Given the description of an element on the screen output the (x, y) to click on. 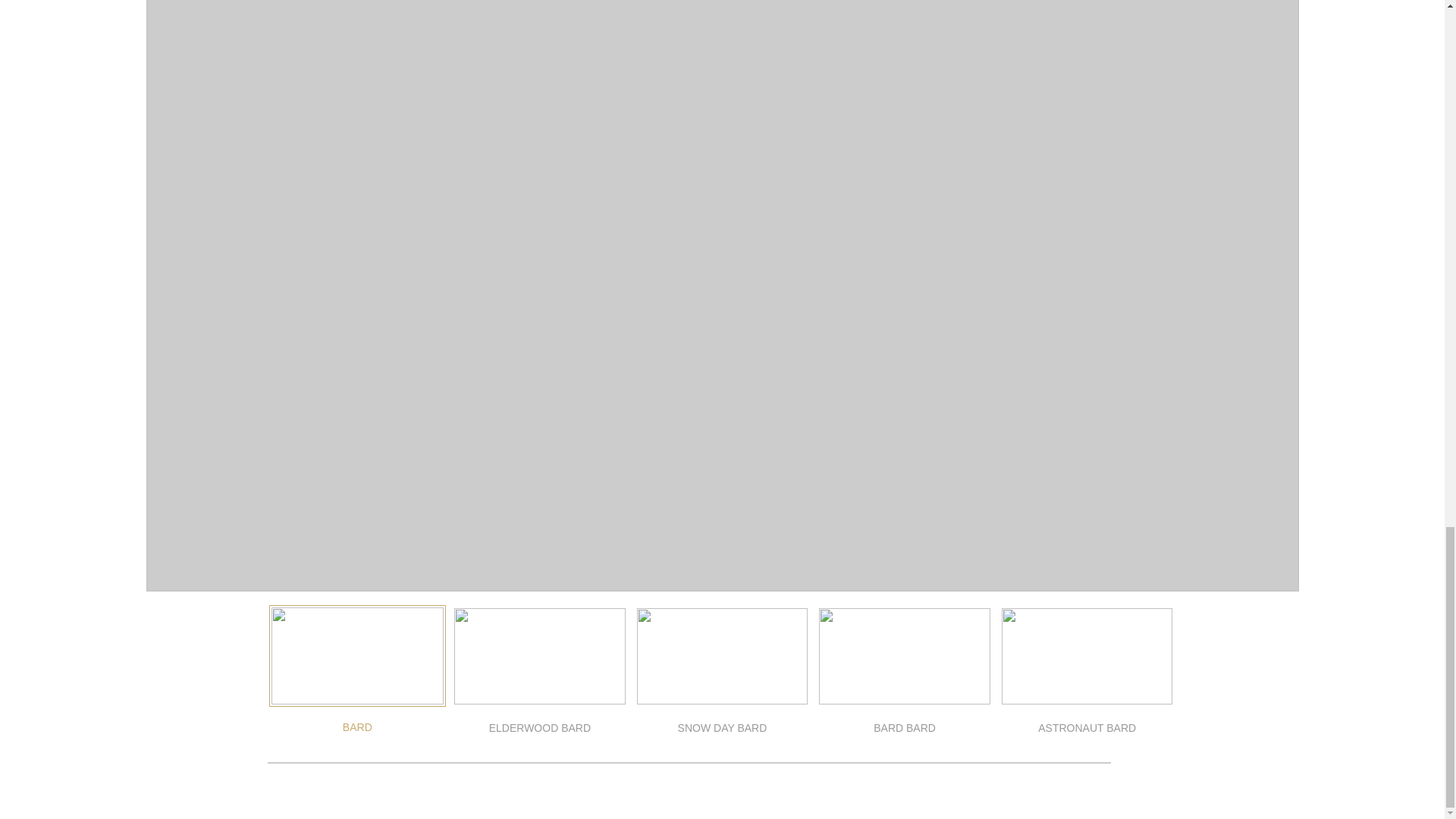
carouselRight-icon (1164, 761)
carouselLeft-icon (1137, 761)
